Given the description of an element on the screen output the (x, y) to click on. 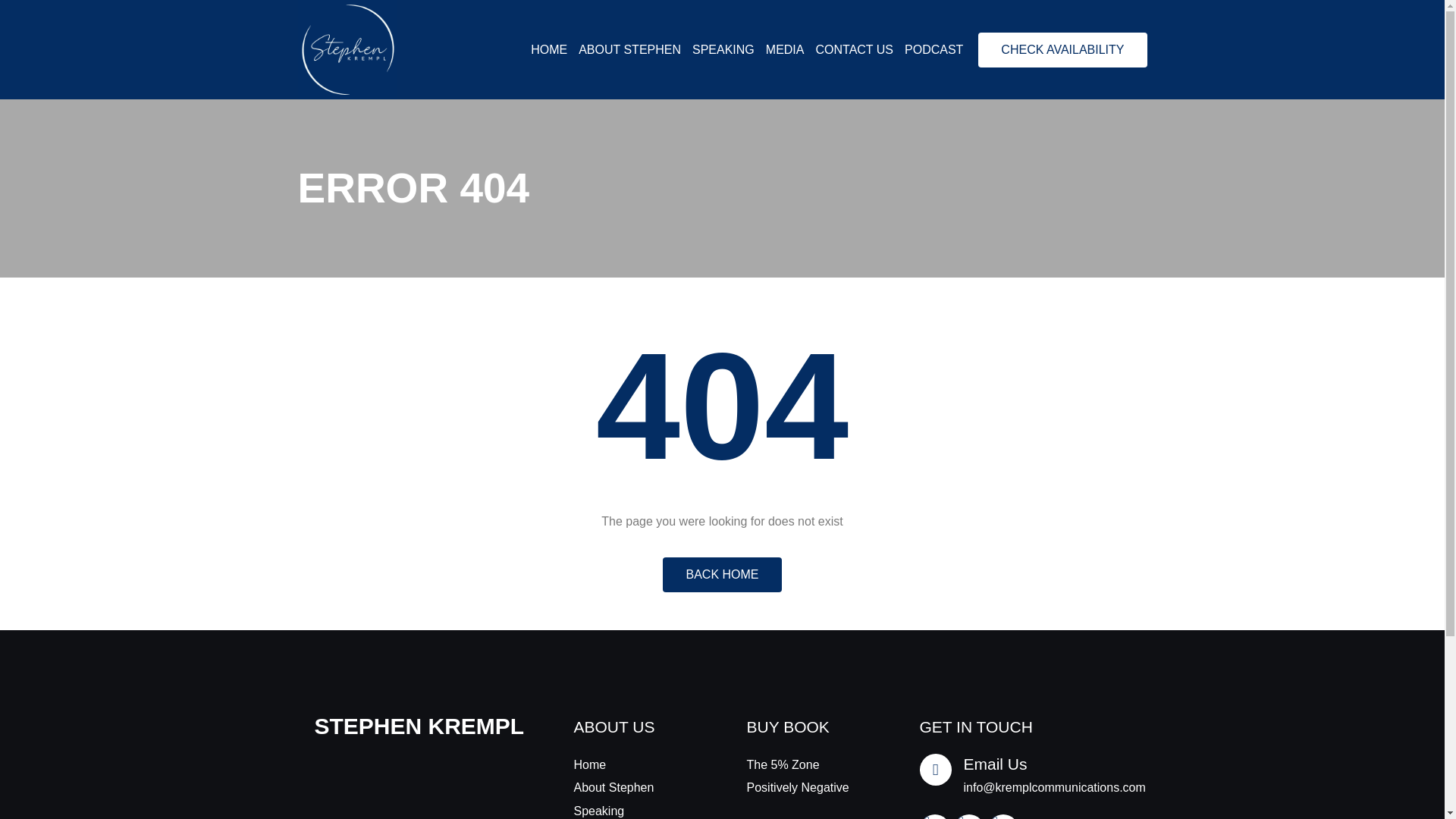
SPEAKING (723, 49)
CONTACT US (854, 49)
MEDIA (785, 49)
Home (635, 764)
HOME (549, 49)
Positively Negative (807, 787)
Speaking (635, 809)
CHECK AVAILABILITY (1062, 49)
PODCAST (933, 49)
ABOUT STEPHEN (629, 49)
BACK HOME (721, 574)
About Stephen (635, 787)
